Given the description of an element on the screen output the (x, y) to click on. 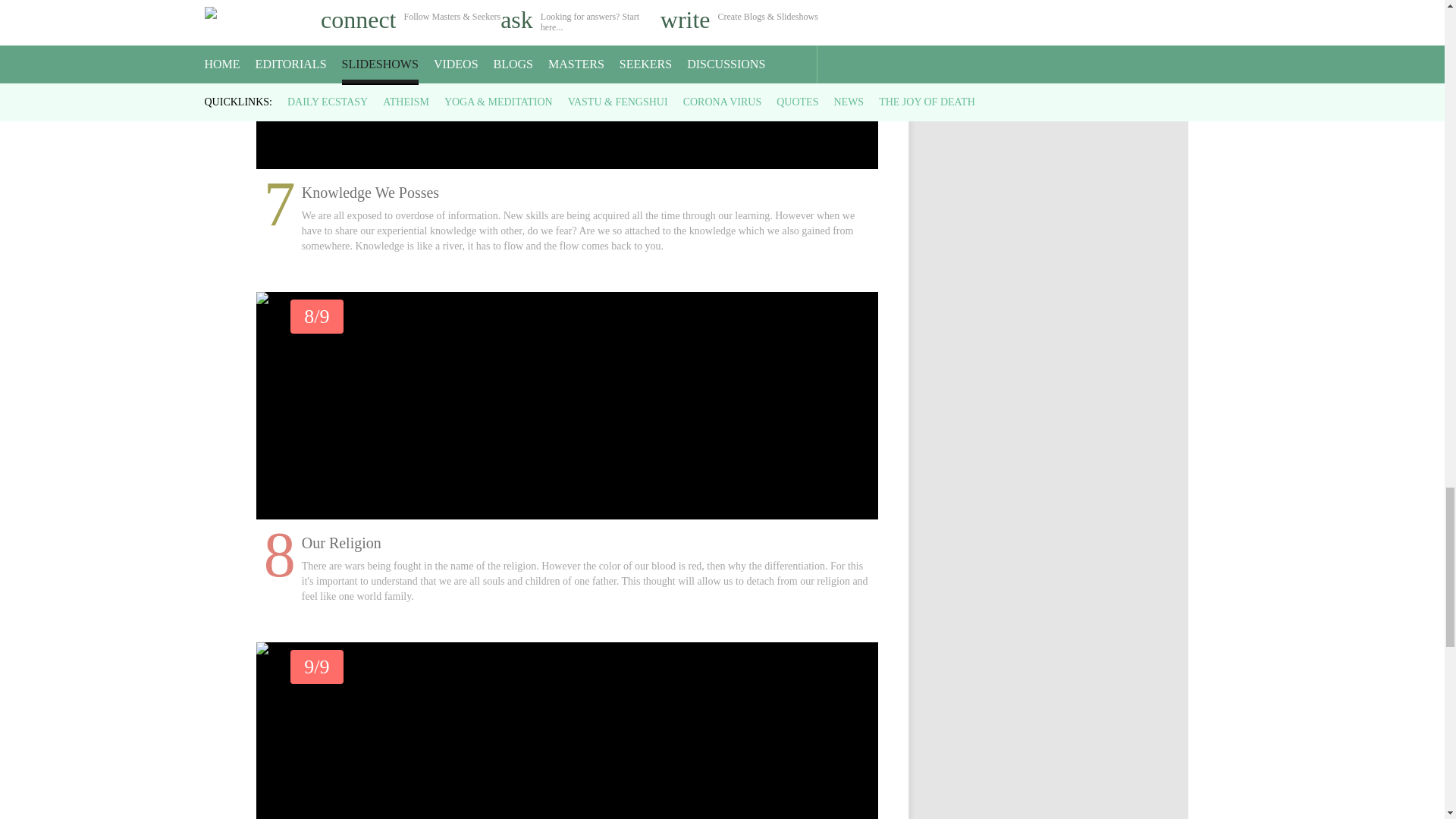
Knowledge We Posses (567, 84)
Eating Habits (567, 730)
